Given the description of an element on the screen output the (x, y) to click on. 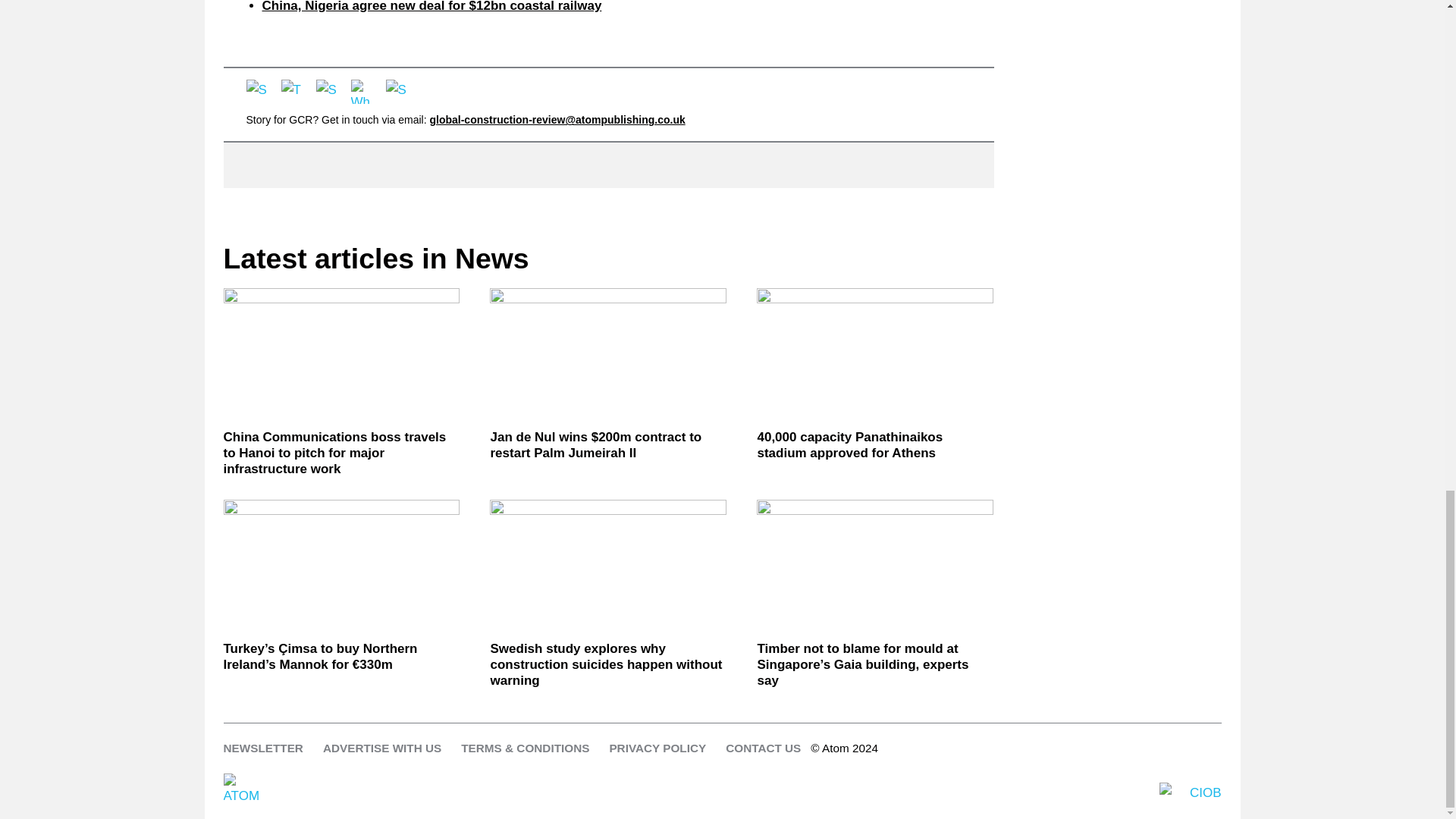
Share on WhatsApp (362, 91)
Tweet (292, 91)
40,000 capacity Panathinaikos stadium approved for Athens (874, 354)
Share on LinkedIn (327, 91)
Share on Facebook (257, 91)
Send email (397, 91)
